Given the description of an element on the screen output the (x, y) to click on. 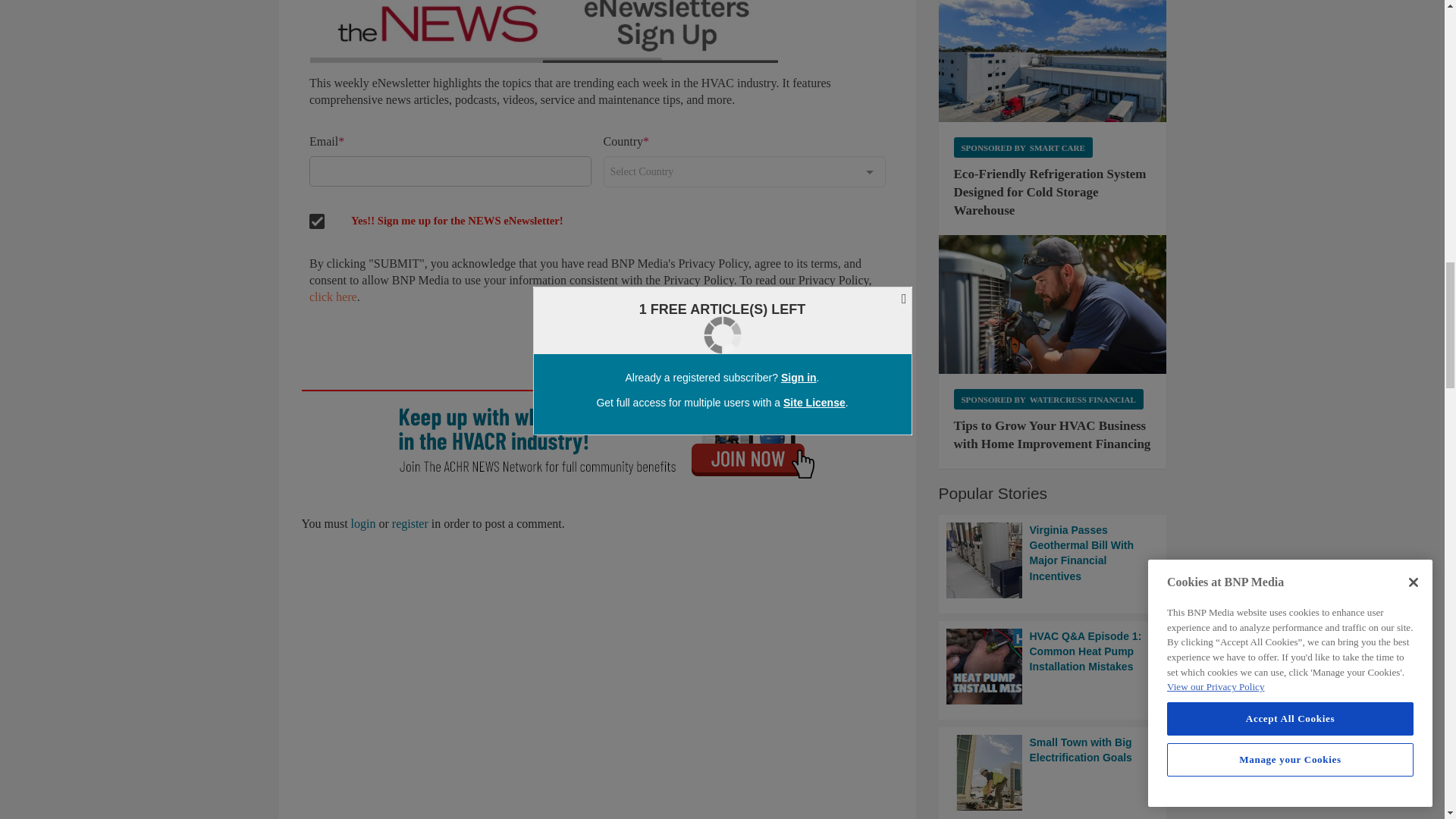
Small Town with Big Electrification Goals (1052, 772)
Sponsored by Smart Care (1023, 147)
Texas Frio Cold Storage (1052, 61)
Sponsored by Watercress Financial (1047, 399)
Technician Working on HVAC Unit (1052, 304)
